Given the description of an element on the screen output the (x, y) to click on. 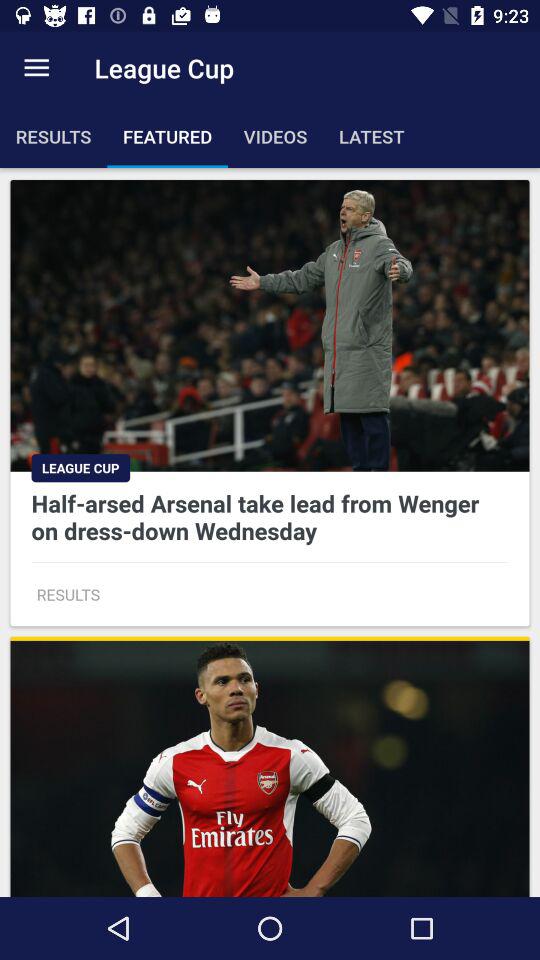
launch the item to the left of league cup icon (36, 68)
